Given the description of an element on the screen output the (x, y) to click on. 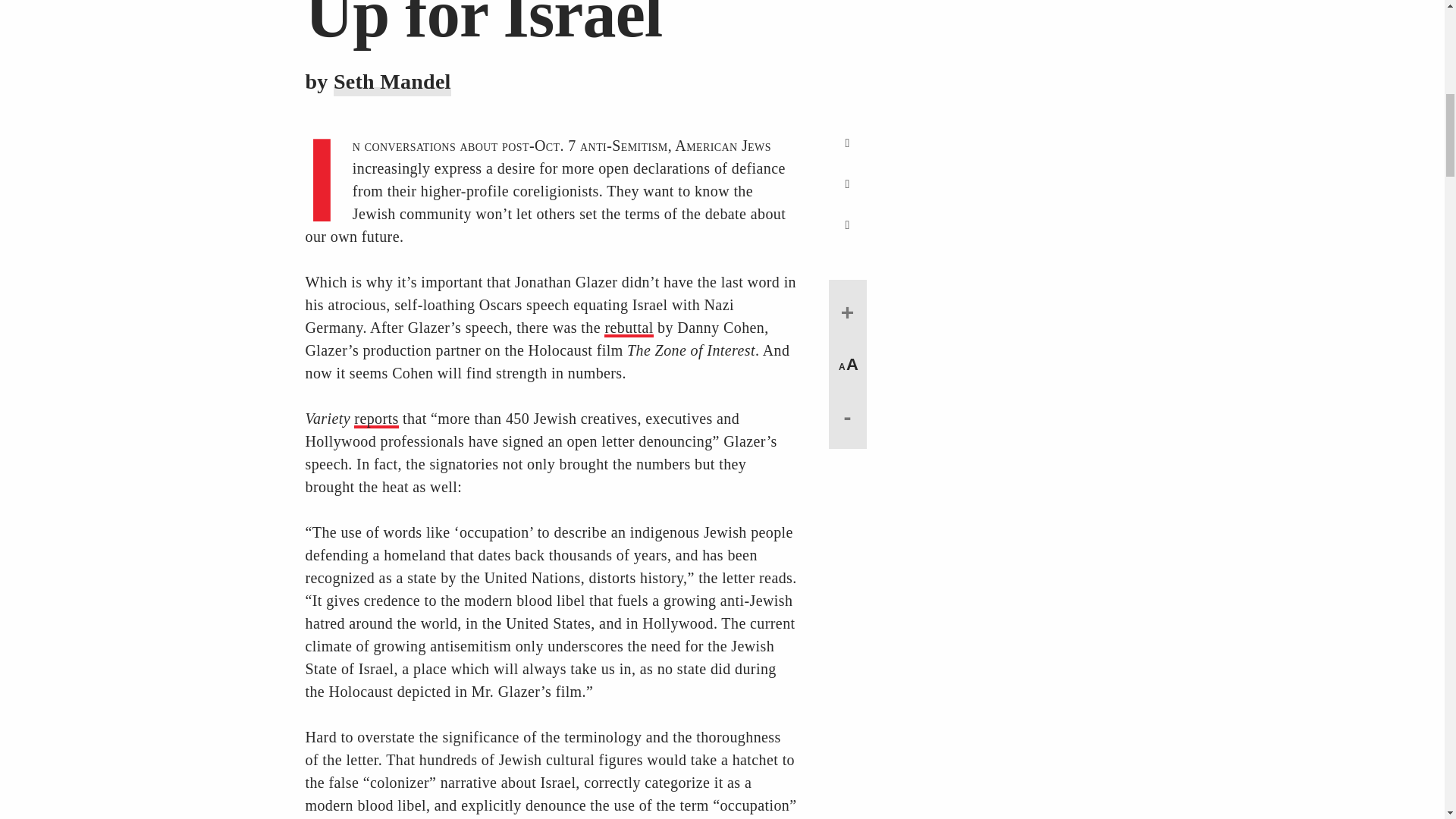
Posts by Seth Mandel (392, 81)
Seth Mandel (392, 81)
reports (375, 418)
rebuttal (628, 327)
